Given the description of an element on the screen output the (x, y) to click on. 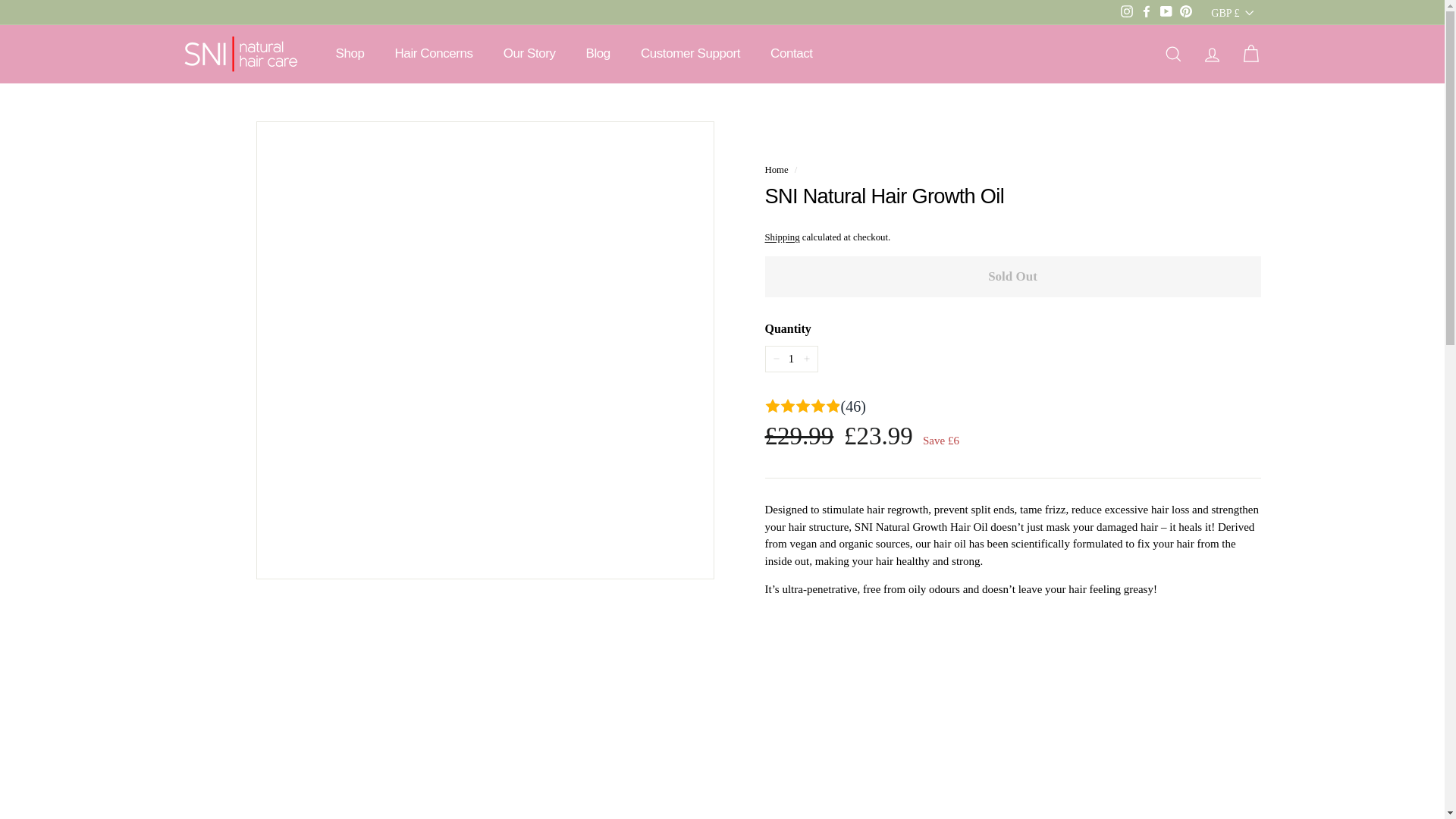
YouTube (1166, 12)
Back to the frontpage (775, 169)
SNI Natural Haircare on Instagram (1126, 12)
Facebook (1146, 12)
Pinterest (1185, 12)
Instagram (1126, 12)
SNI Natural Haircare on Facebook (1146, 12)
SNI Natural Haircare on YouTube (1166, 12)
1 (790, 358)
